Given the description of an element on the screen output the (x, y) to click on. 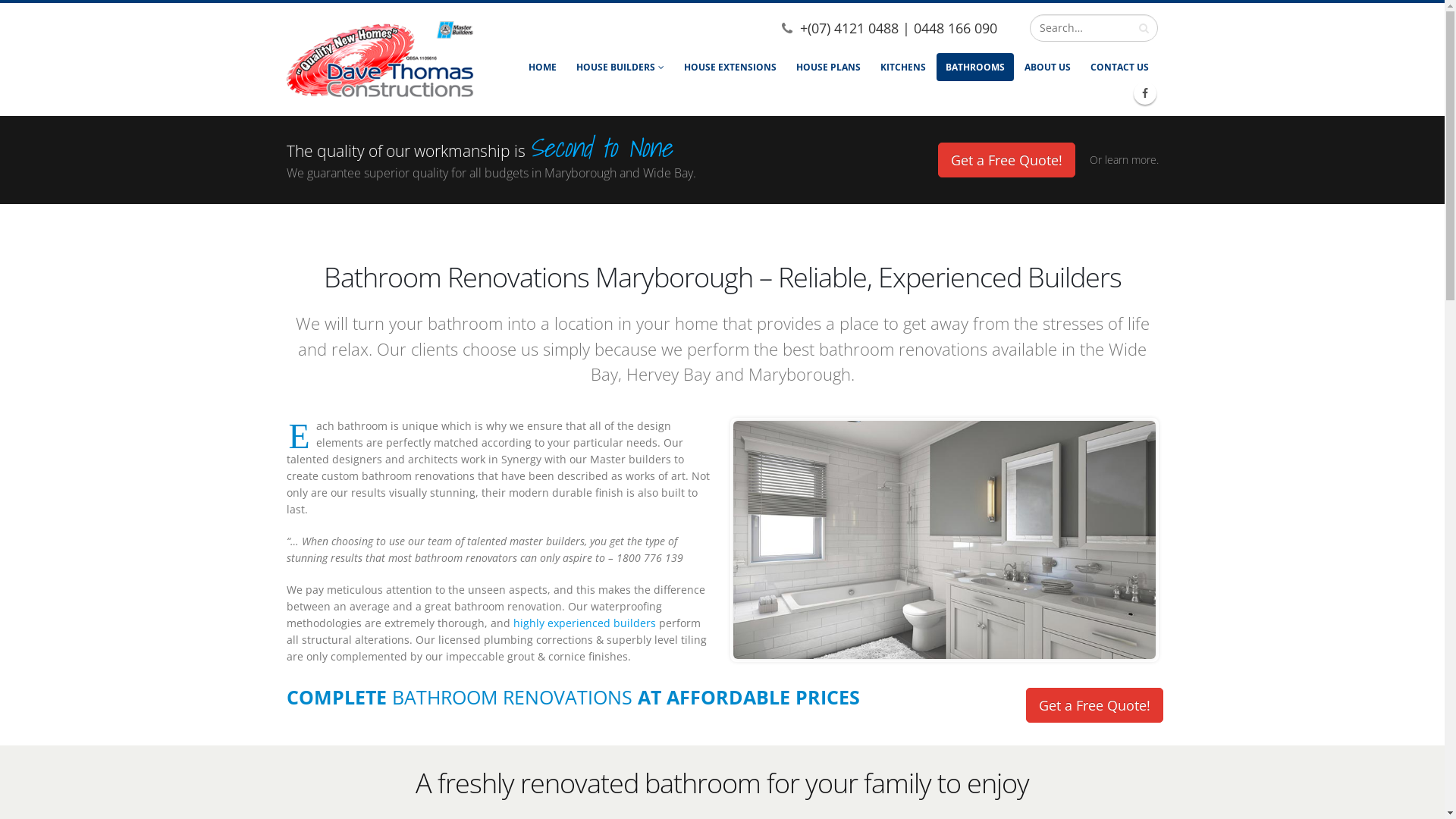
Facebook Element type: hover (1144, 92)
HOME Element type: text (542, 67)
HOUSE BUILDERS Element type: text (620, 67)
Dave Thomas Constructions - Quality new homes Element type: hover (380, 59)
BATHROOMS Element type: text (974, 67)
HOUSE PLANS Element type: text (828, 67)
CONTACT US Element type: text (1119, 67)
ABOUT US Element type: text (1047, 67)
KITCHENS Element type: text (903, 67)
Get a Free Quote! Element type: text (1093, 704)
Get a Free Quote! Element type: text (1005, 159)
highly experienced builders Element type: text (583, 622)
Search Element type: hover (1143, 27)
HOUSE EXTENSIONS Element type: text (729, 67)
